Given the description of an element on the screen output the (x, y) to click on. 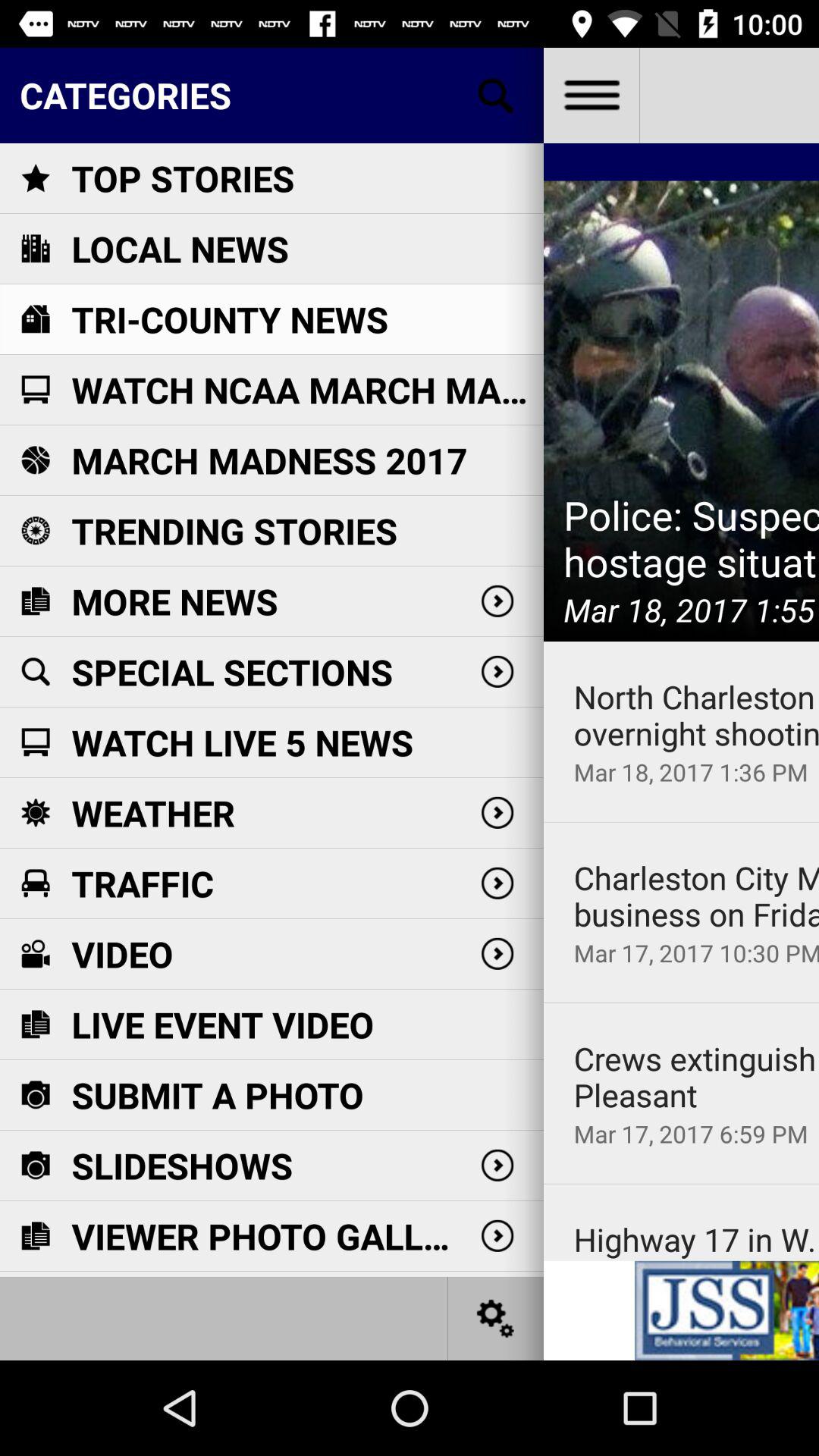
see the app menu (591, 95)
